Given the description of an element on the screen output the (x, y) to click on. 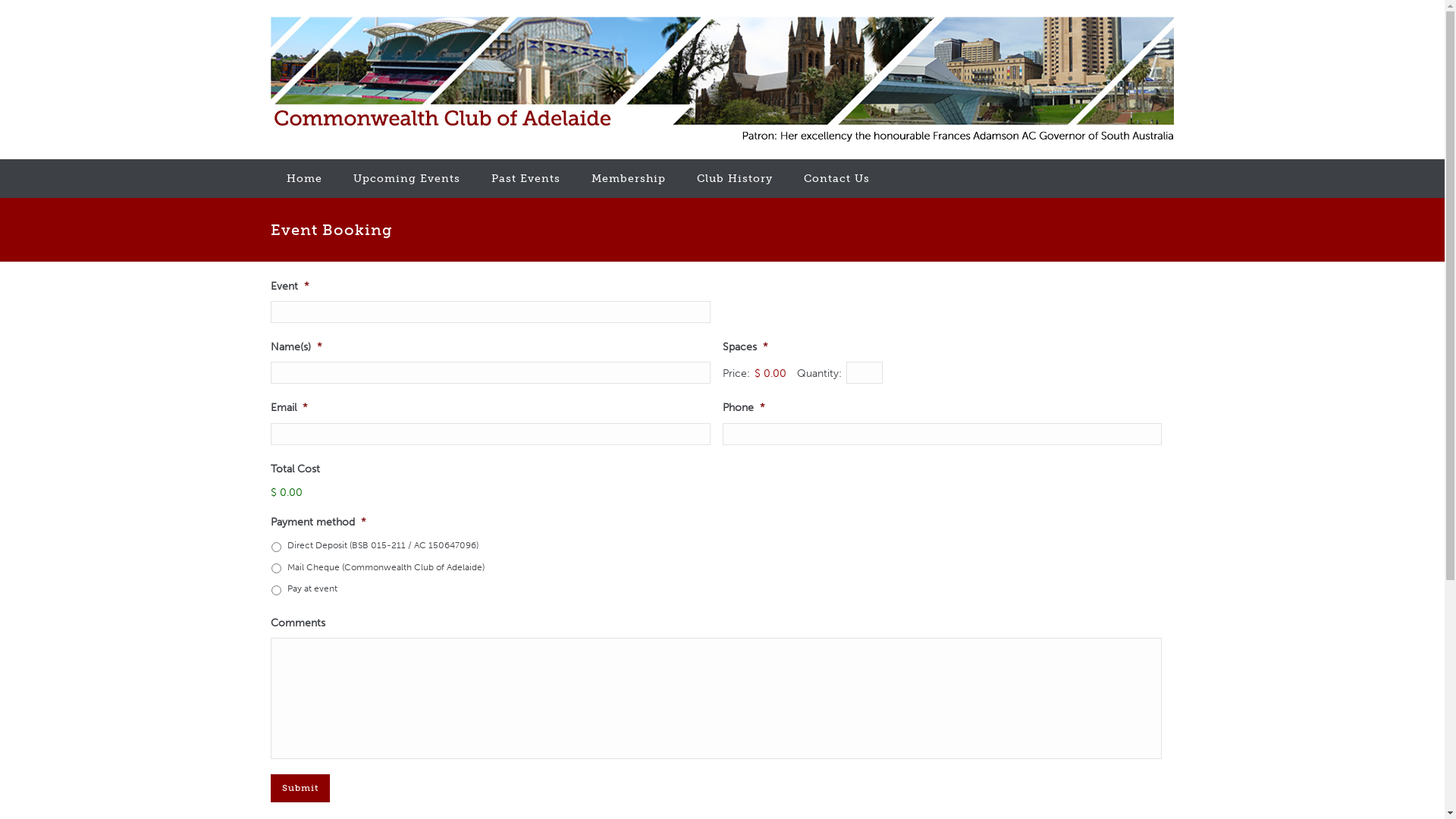
Submit Element type: text (299, 788)
Commmonwealth Club of Adelaide Element type: hover (721, 79)
Club History Element type: text (734, 178)
Home Element type: text (304, 178)
Past Events Element type: text (525, 178)
Membership Element type: text (628, 178)
Premier luncheon club in Adelaide Element type: hover (721, 79)
Contact Us Element type: text (836, 178)
Upcoming Events Element type: text (406, 178)
